Given the description of an element on the screen output the (x, y) to click on. 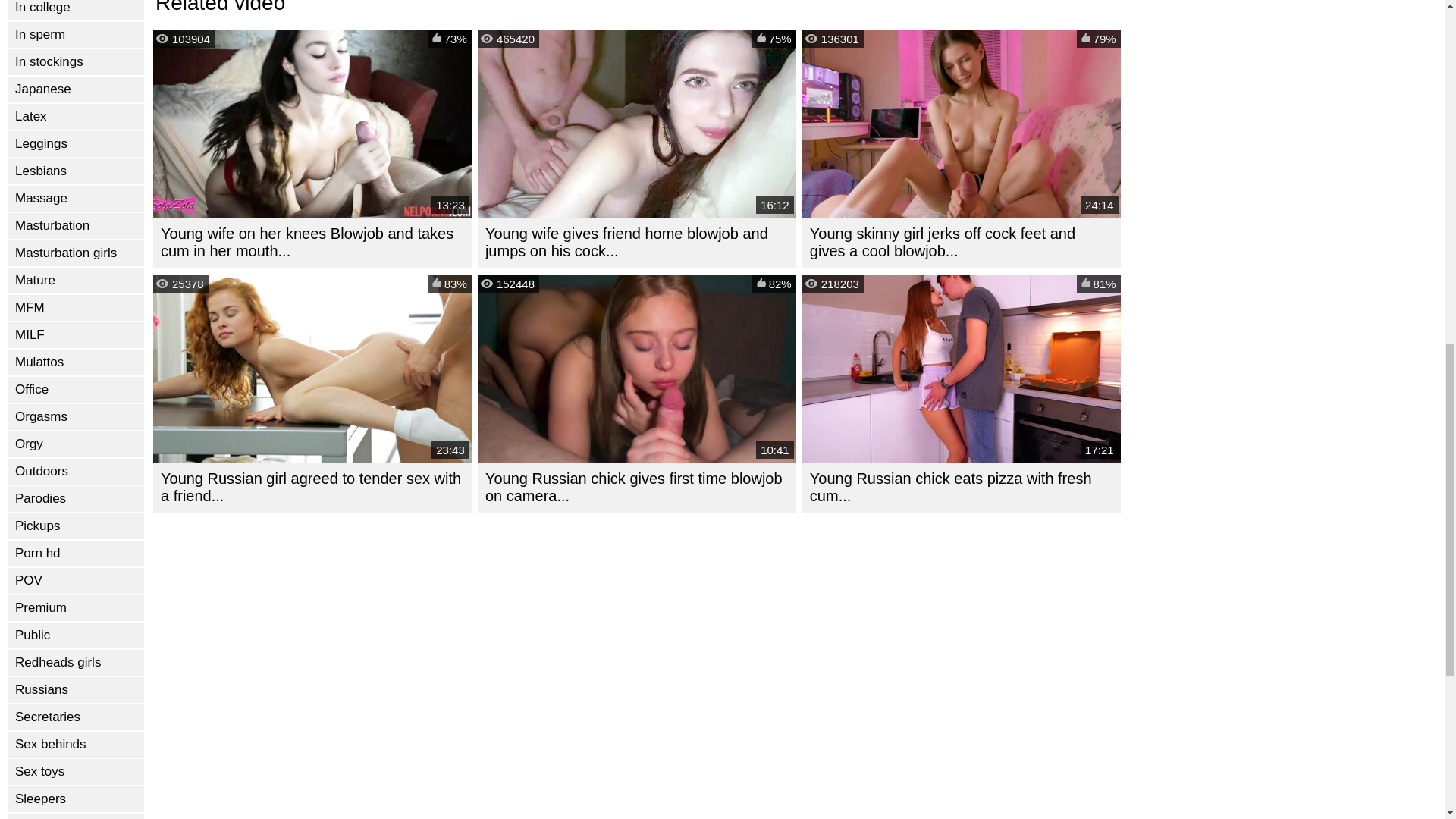
In sperm (75, 34)
In stockings (75, 62)
Japanese (75, 89)
In college (75, 10)
